Given the description of an element on the screen output the (x, y) to click on. 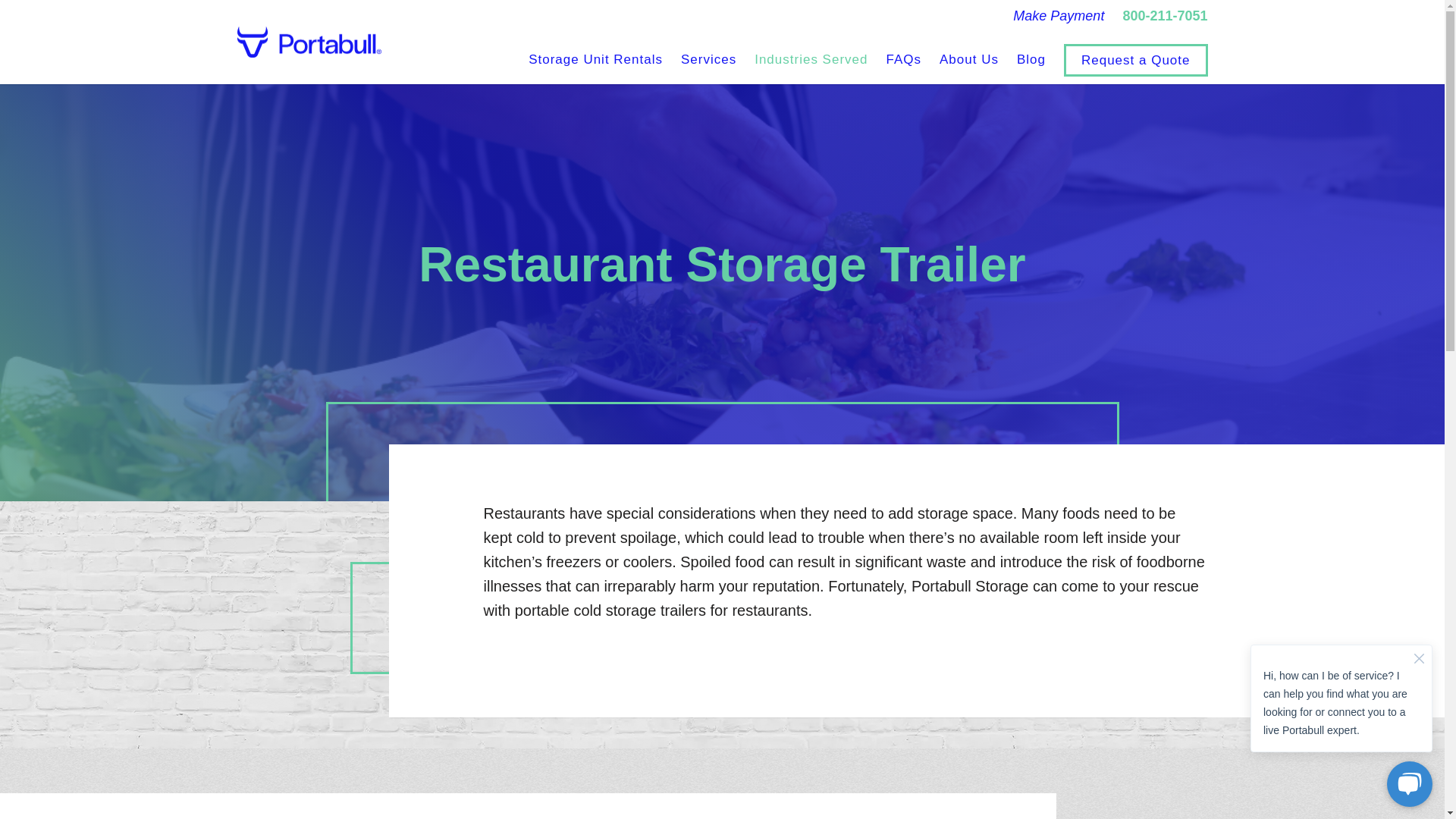
Portabull Storage (307, 42)
